Given the description of an element on the screen output the (x, y) to click on. 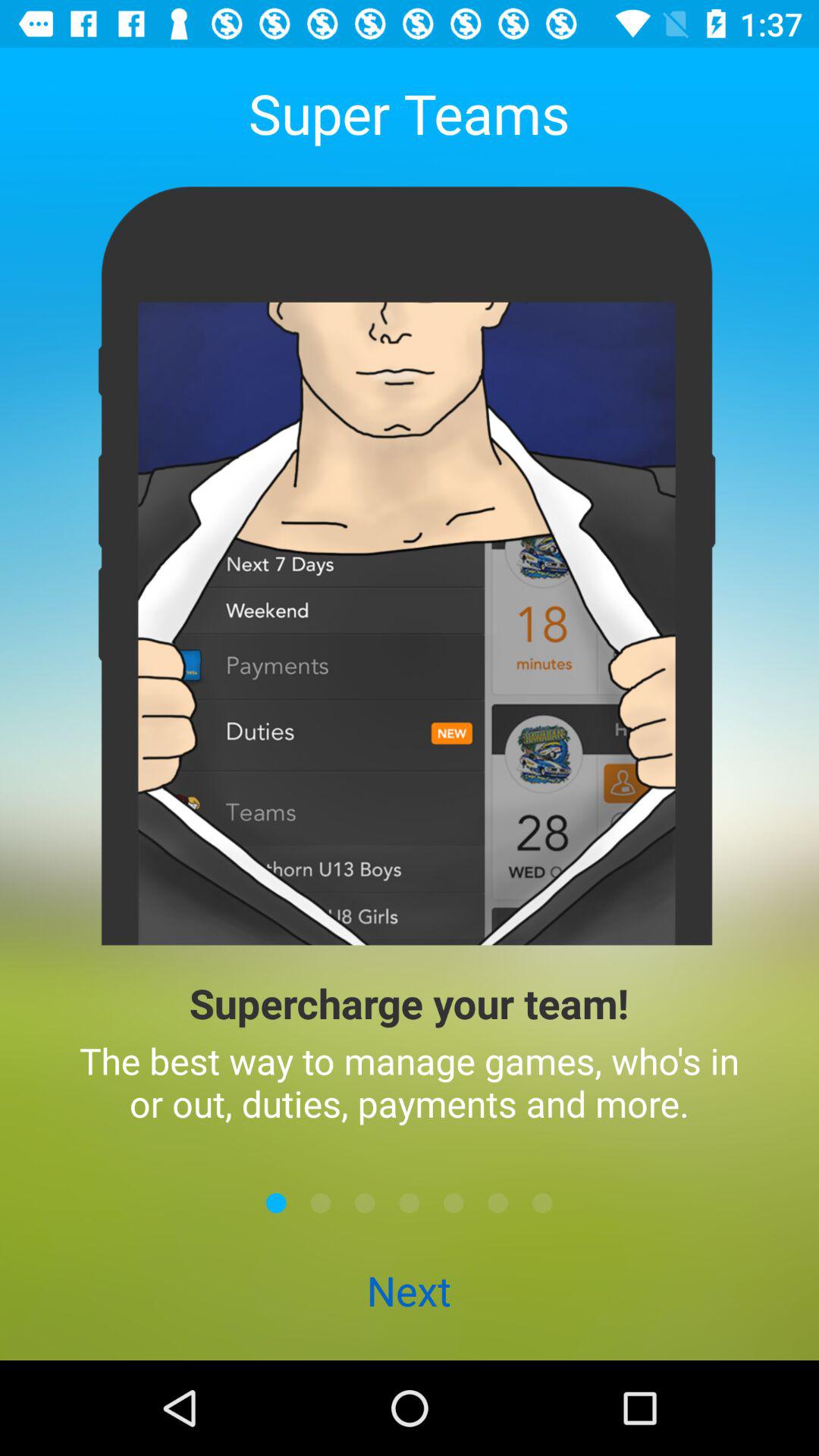
next page (453, 1203)
